Given the description of an element on the screen output the (x, y) to click on. 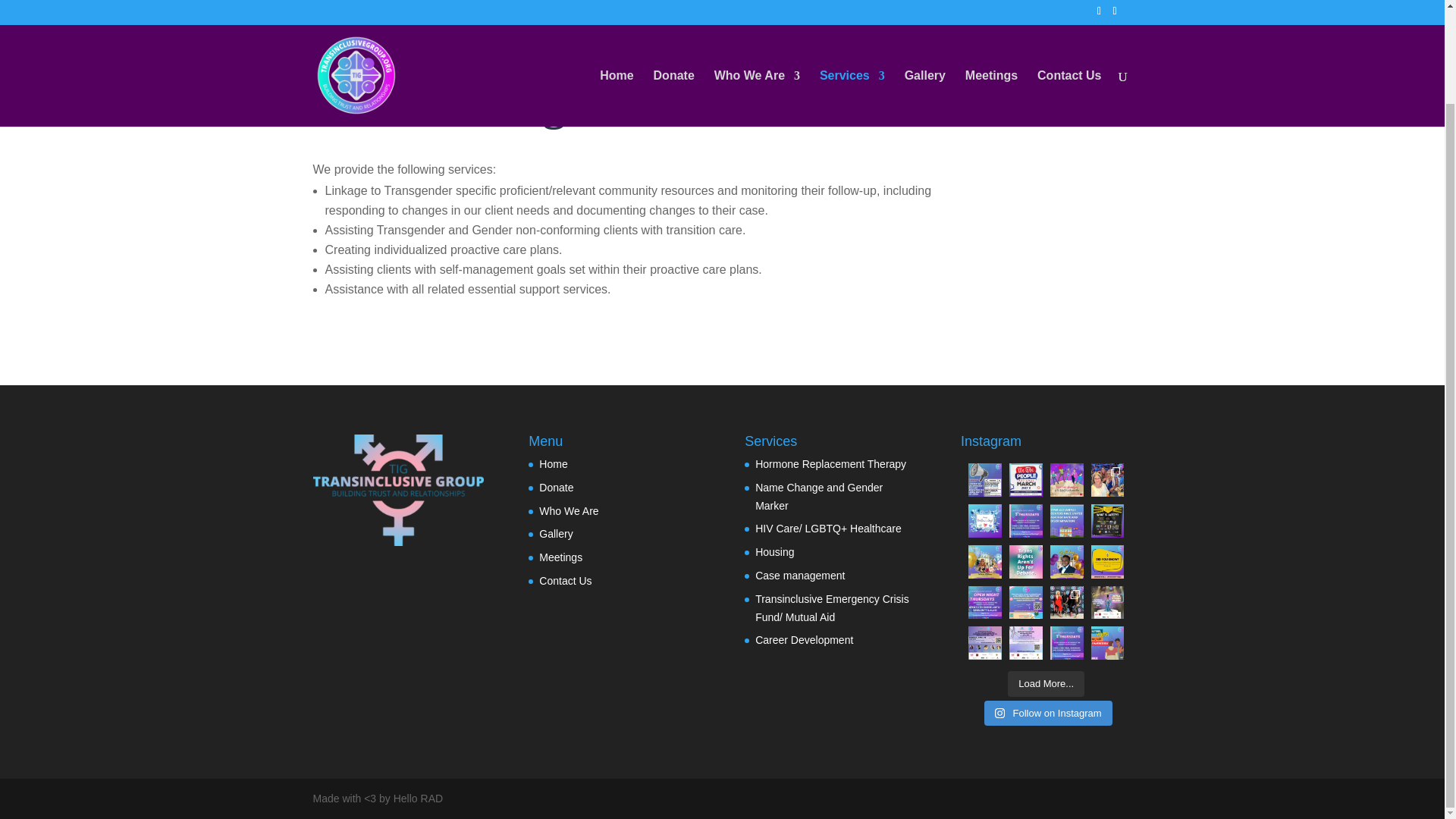
Home (616, 9)
Home (552, 463)
Services (852, 9)
Meetings (991, 9)
Gallery (924, 9)
Donate (555, 487)
Who We Are (568, 510)
Donate (673, 9)
Who We Are (756, 9)
Contact Us (1068, 9)
